Given the description of an element on the screen output the (x, y) to click on. 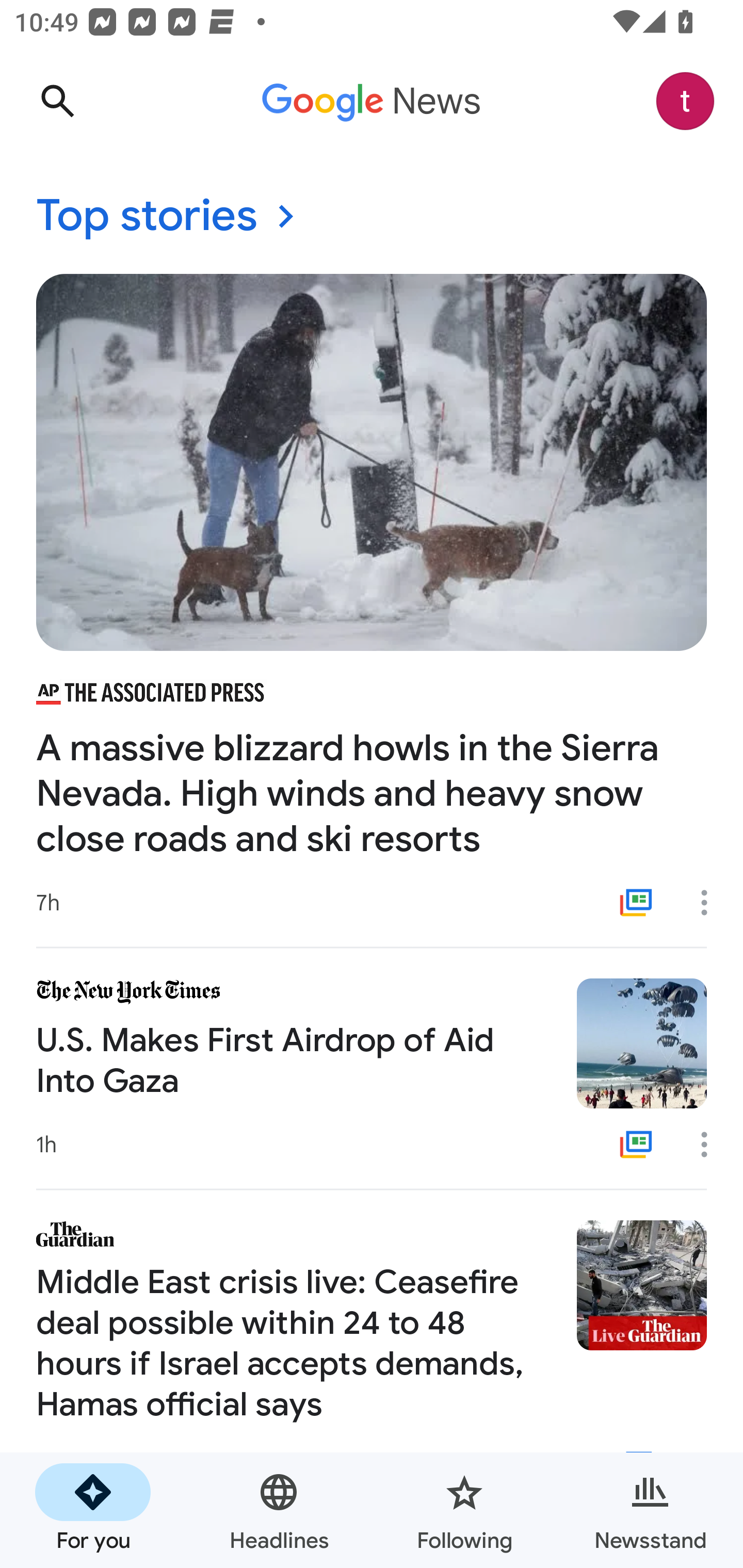
Search (57, 100)
Top stories (371, 216)
More options (711, 902)
More options (711, 1144)
For you (92, 1509)
Headlines (278, 1509)
Following (464, 1509)
Newsstand (650, 1509)
